Given the description of an element on the screen output the (x, y) to click on. 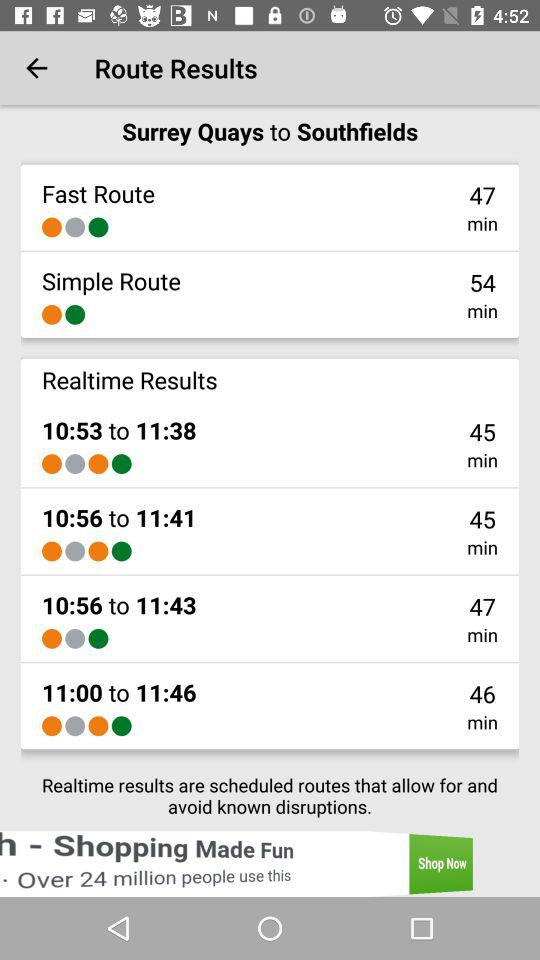
open simple route icon (111, 280)
